Given the description of an element on the screen output the (x, y) to click on. 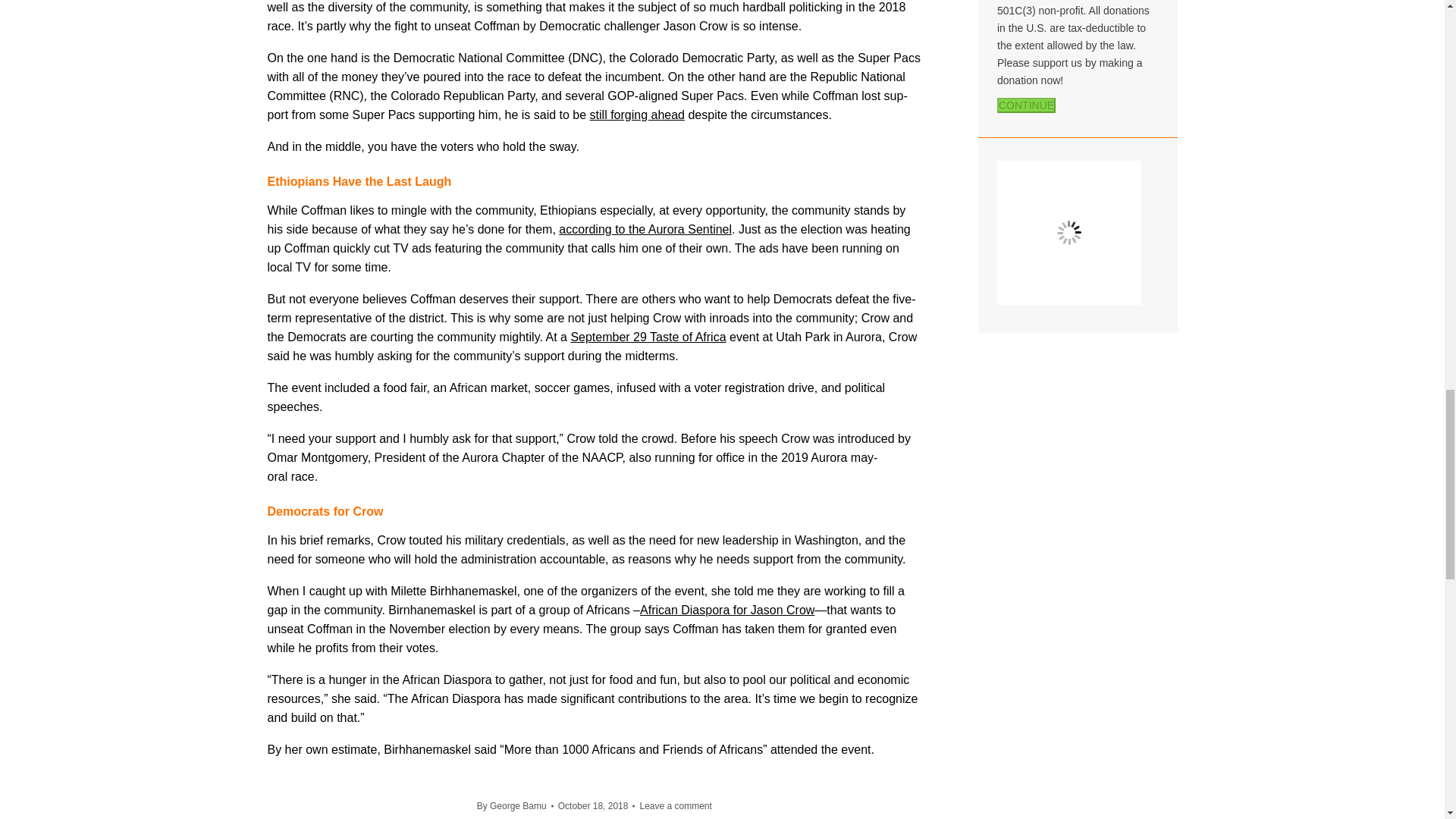
View all posts by George Bamu (515, 805)
